Given the description of an element on the screen output the (x, y) to click on. 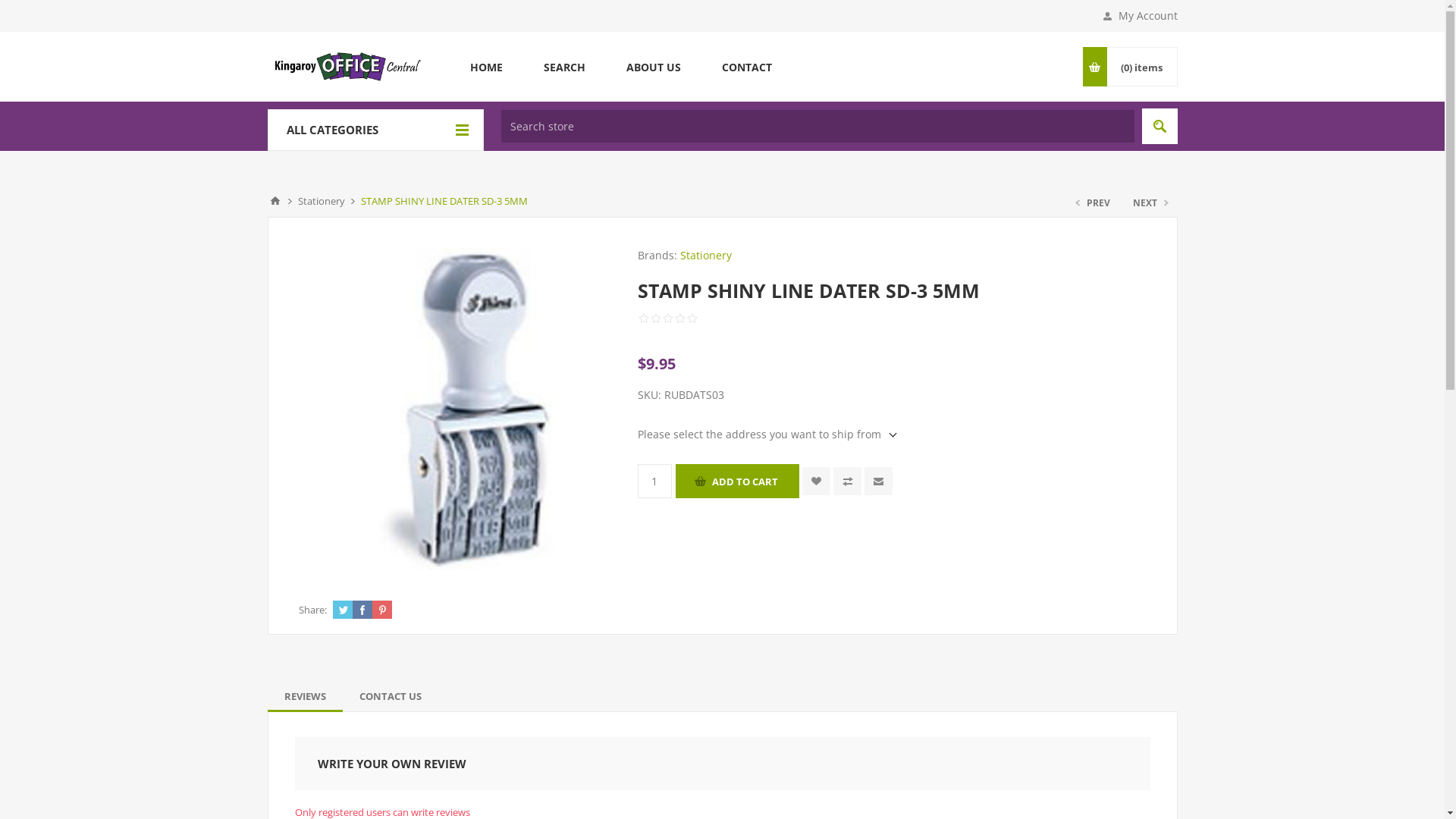
REVIEWS Element type: text (304, 696)
PREV Element type: text (1093, 202)
ABOUT US Element type: text (652, 67)
Home Element type: text (274, 200)
Search Element type: text (1159, 126)
CONTACT Element type: text (745, 67)
Stationery Element type: text (320, 200)
Email a friend Element type: text (878, 481)
Add to wishlist Element type: text (816, 481)
NEXT Element type: text (1148, 202)
Add to compare list Element type: text (847, 481)
(0) items Element type: text (1140, 66)
Stationery Element type: text (705, 254)
Please select the address you want to ship from Element type: text (766, 433)
HOME Element type: text (485, 67)
CONTACT US Element type: text (390, 696)
SEARCH Element type: text (564, 67)
